Given the description of an element on the screen output the (x, y) to click on. 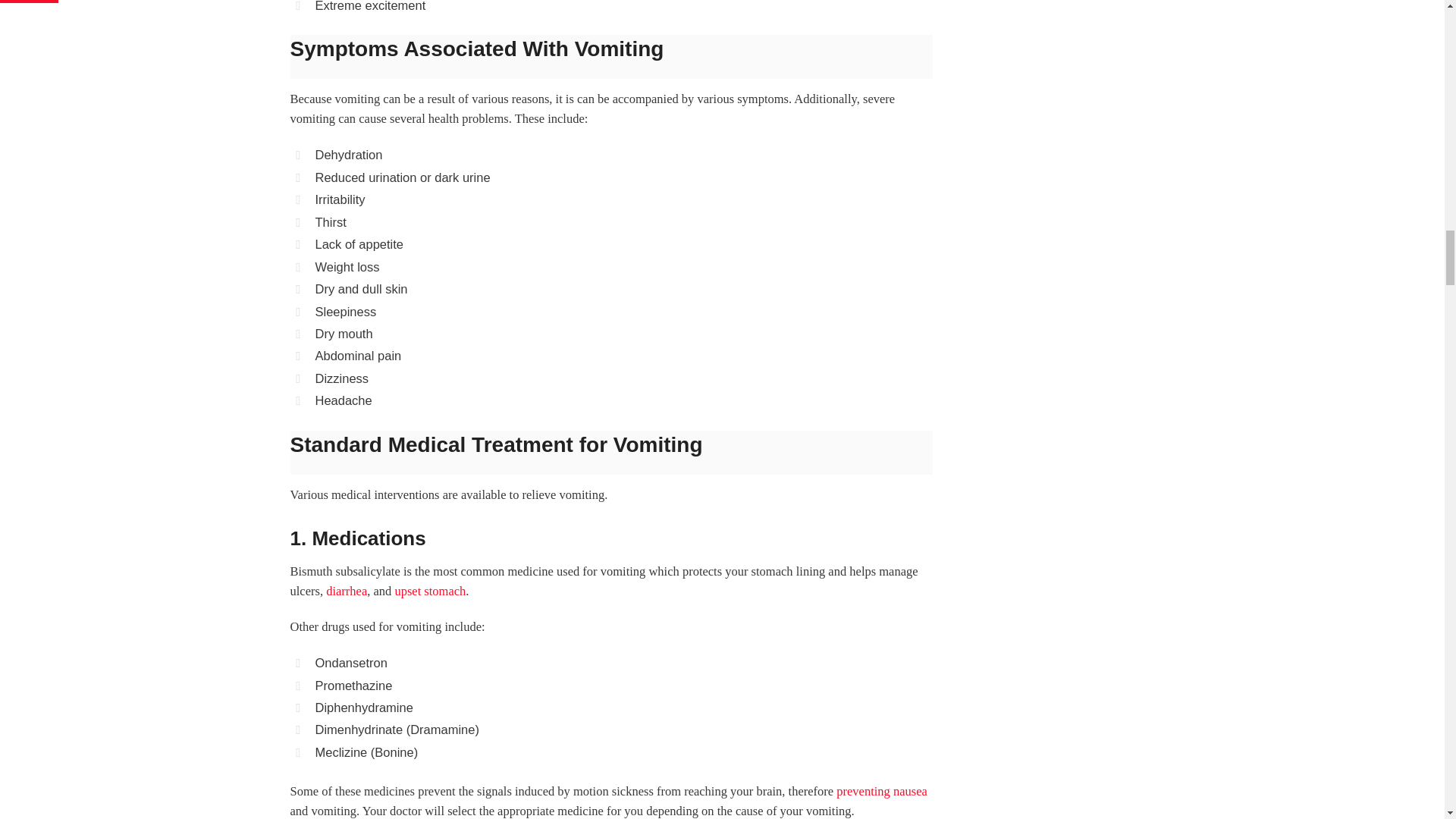
preventing nausea (881, 790)
diarrhea (346, 590)
upset stomach (429, 590)
